Given the description of an element on the screen output the (x, y) to click on. 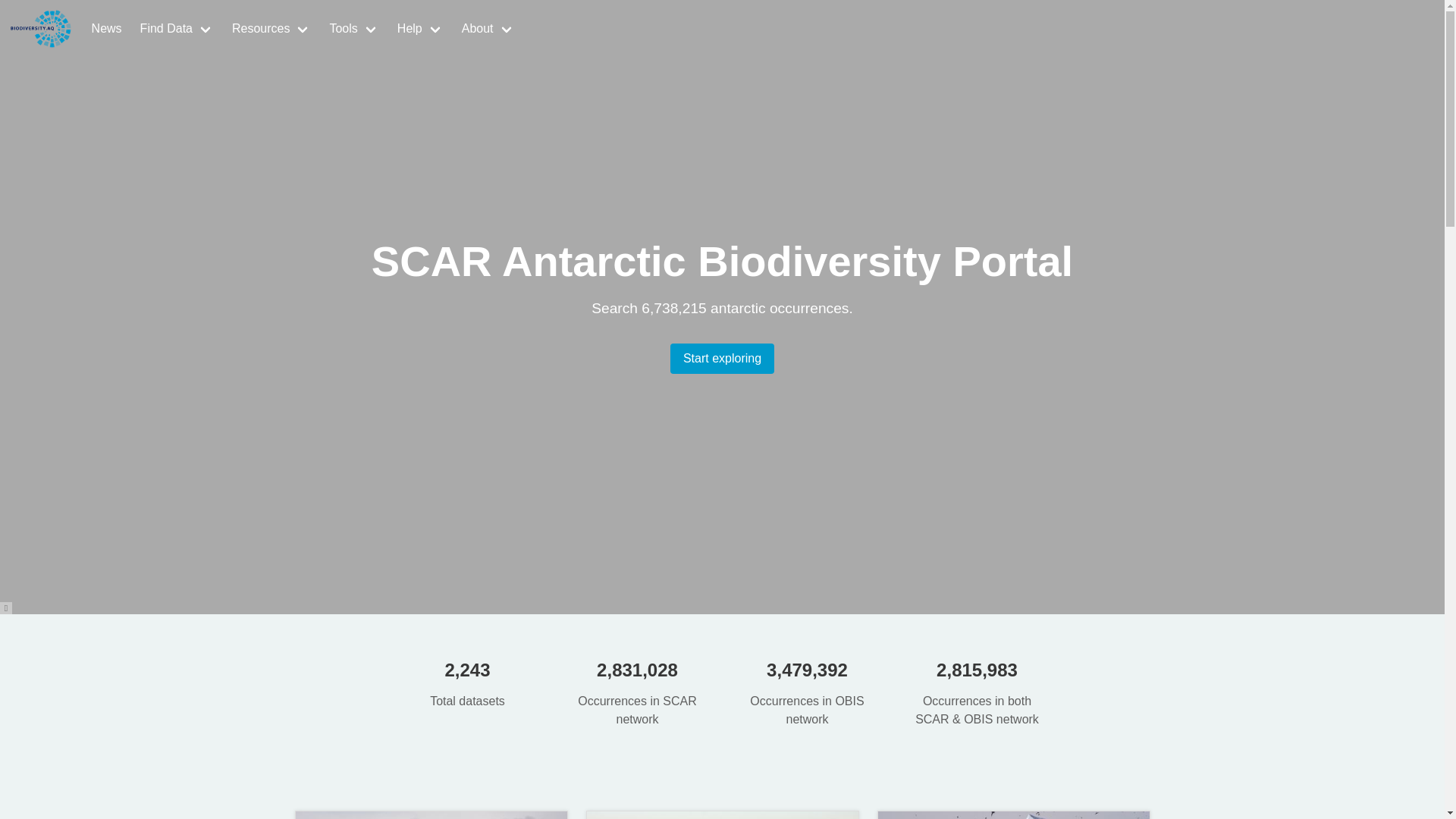
Resources (271, 28)
Tools (353, 28)
About (488, 28)
Find Data (176, 28)
2,243 (467, 670)
Start exploring (721, 358)
2,831,028 (636, 670)
Help (420, 28)
3,479,392 (806, 670)
